Given the description of an element on the screen output the (x, y) to click on. 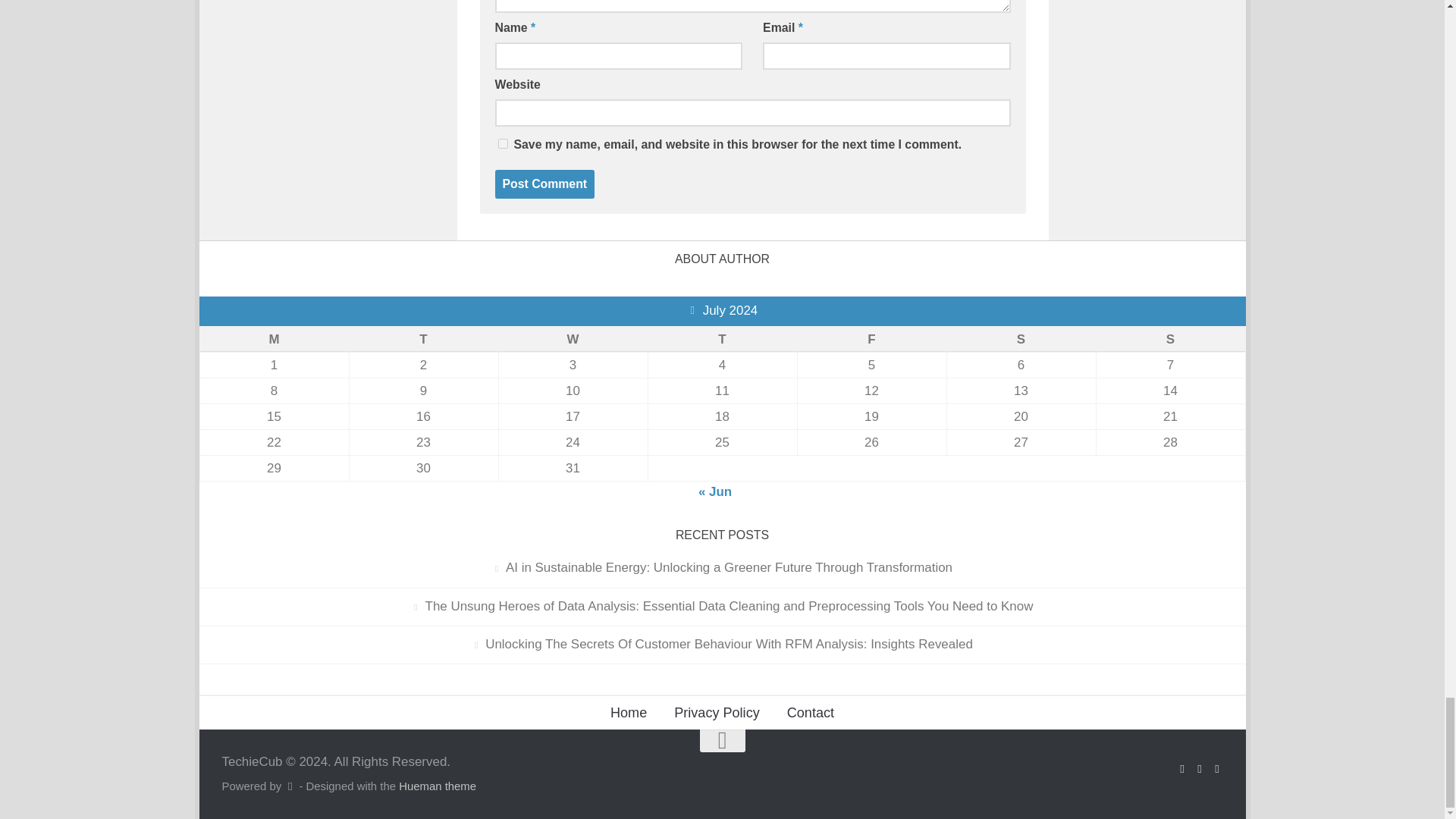
yes (501, 143)
Post Comment (544, 184)
